Given the description of an element on the screen output the (x, y) to click on. 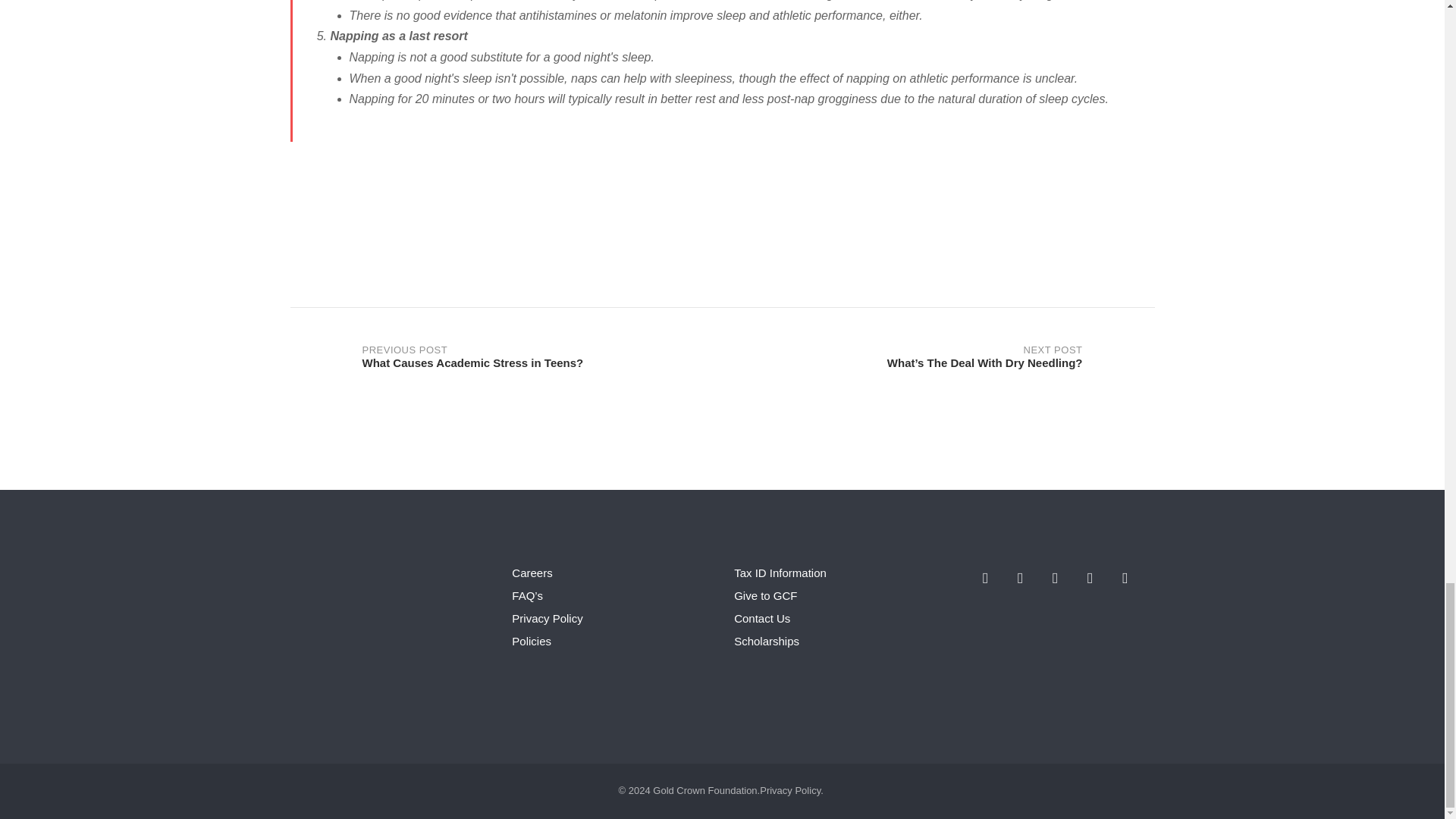
Gold Crown Foundation on X Twitter (1090, 578)
Gold Crown Foundation on Tiktok (1124, 578)
Gold Crown Foundation on Instagram (1020, 578)
Gold Crown Foundation on Youtube (986, 578)
Gold Crown Foundation on Facebook (1055, 578)
